Given the description of an element on the screen output the (x, y) to click on. 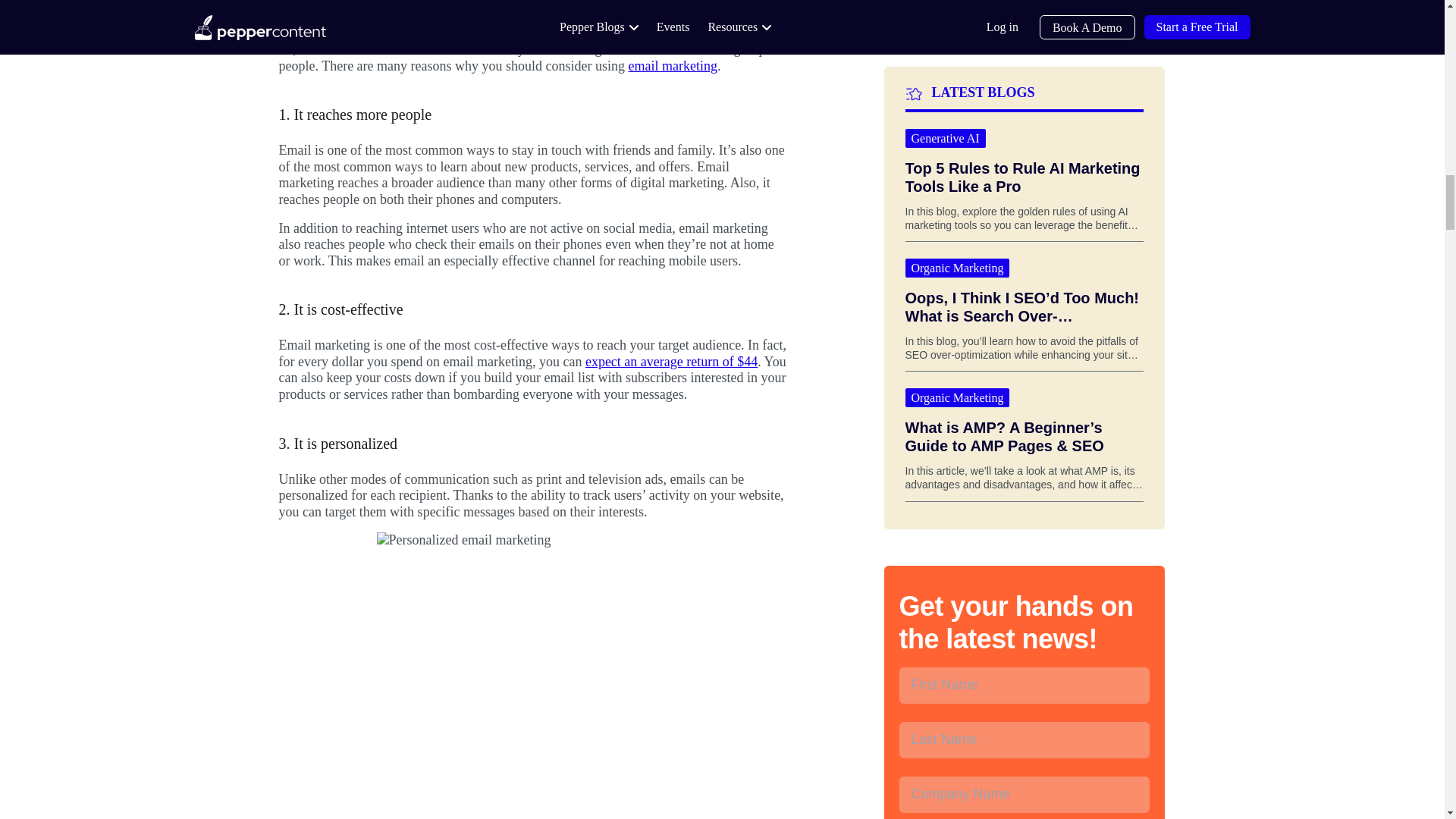
email marketing (672, 65)
a study shows (523, 14)
